Given the description of an element on the screen output the (x, y) to click on. 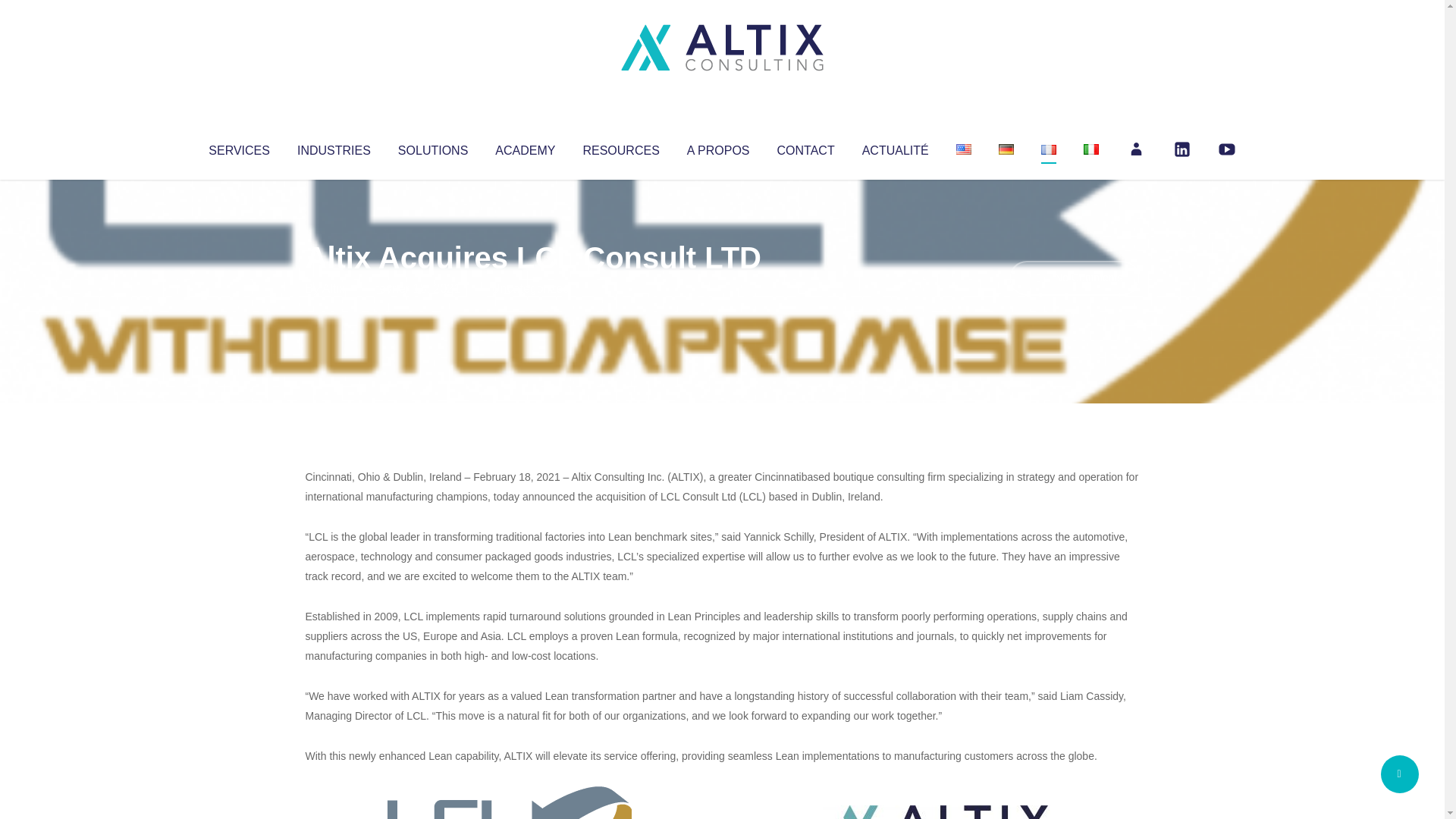
ACADEMY (524, 146)
SOLUTIONS (432, 146)
RESOURCES (620, 146)
A PROPOS (718, 146)
SERVICES (238, 146)
INDUSTRIES (334, 146)
Altix (333, 287)
Articles par Altix (333, 287)
Uncategorized (530, 287)
No Comments (1073, 278)
